Given the description of an element on the screen output the (x, y) to click on. 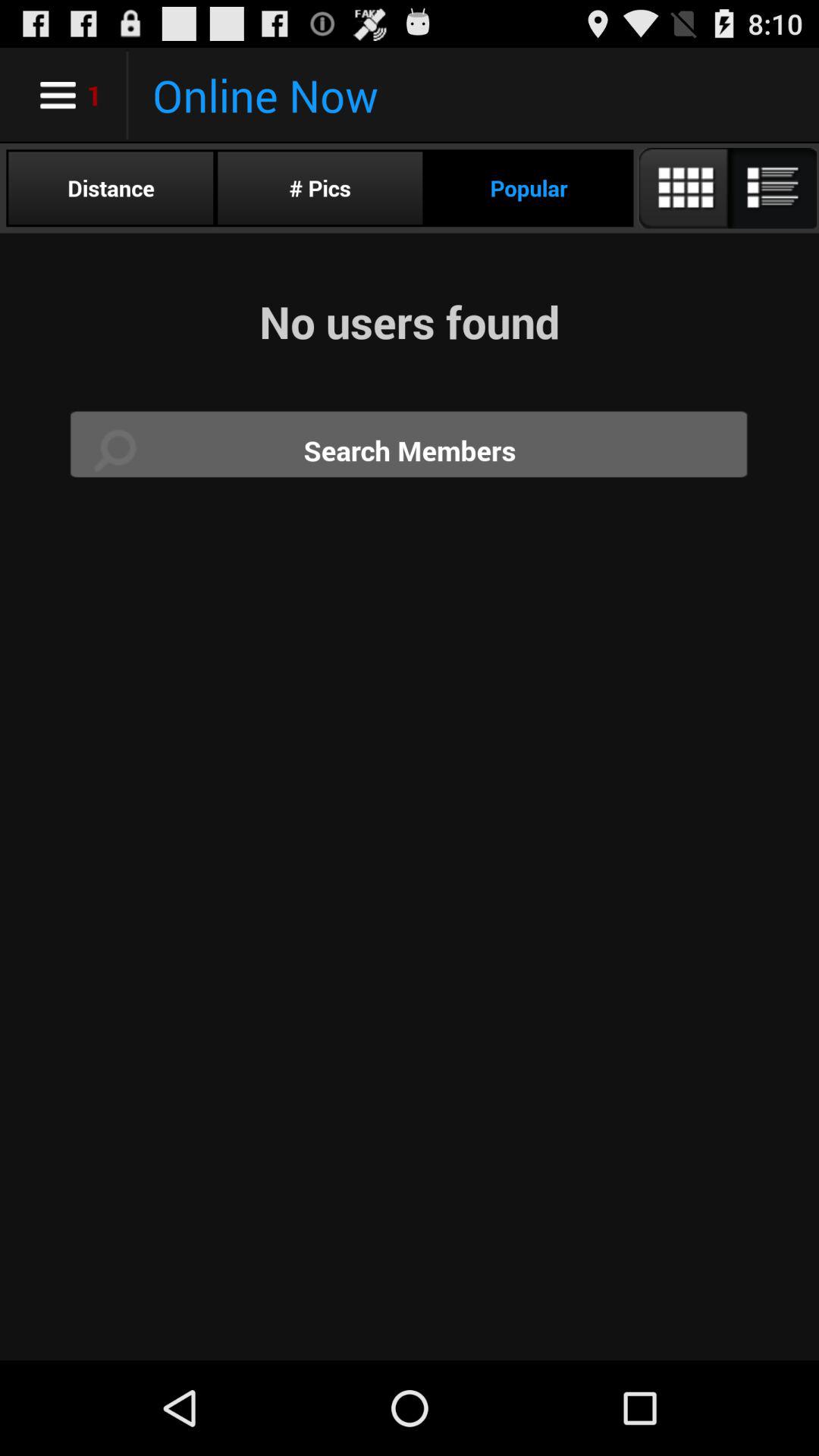
search box (409, 450)
